Given the description of an element on the screen output the (x, y) to click on. 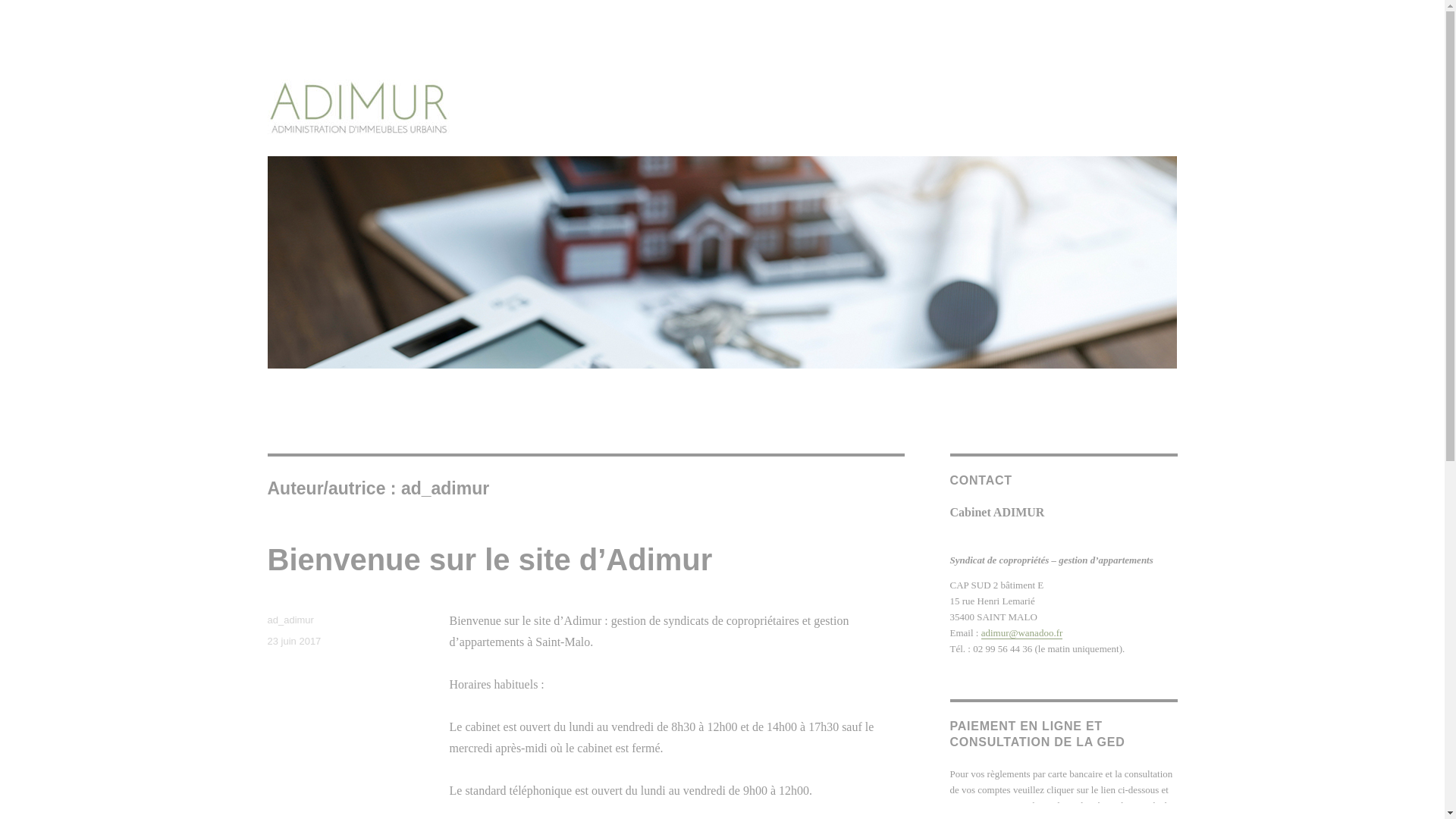
23 juin 2017 Element type: text (293, 640)
ad_adimur Element type: text (289, 619)
ADIMUR Element type: text (308, 158)
adimur@wanadoo.fr Element type: text (1022, 632)
